Given the description of an element on the screen output the (x, y) to click on. 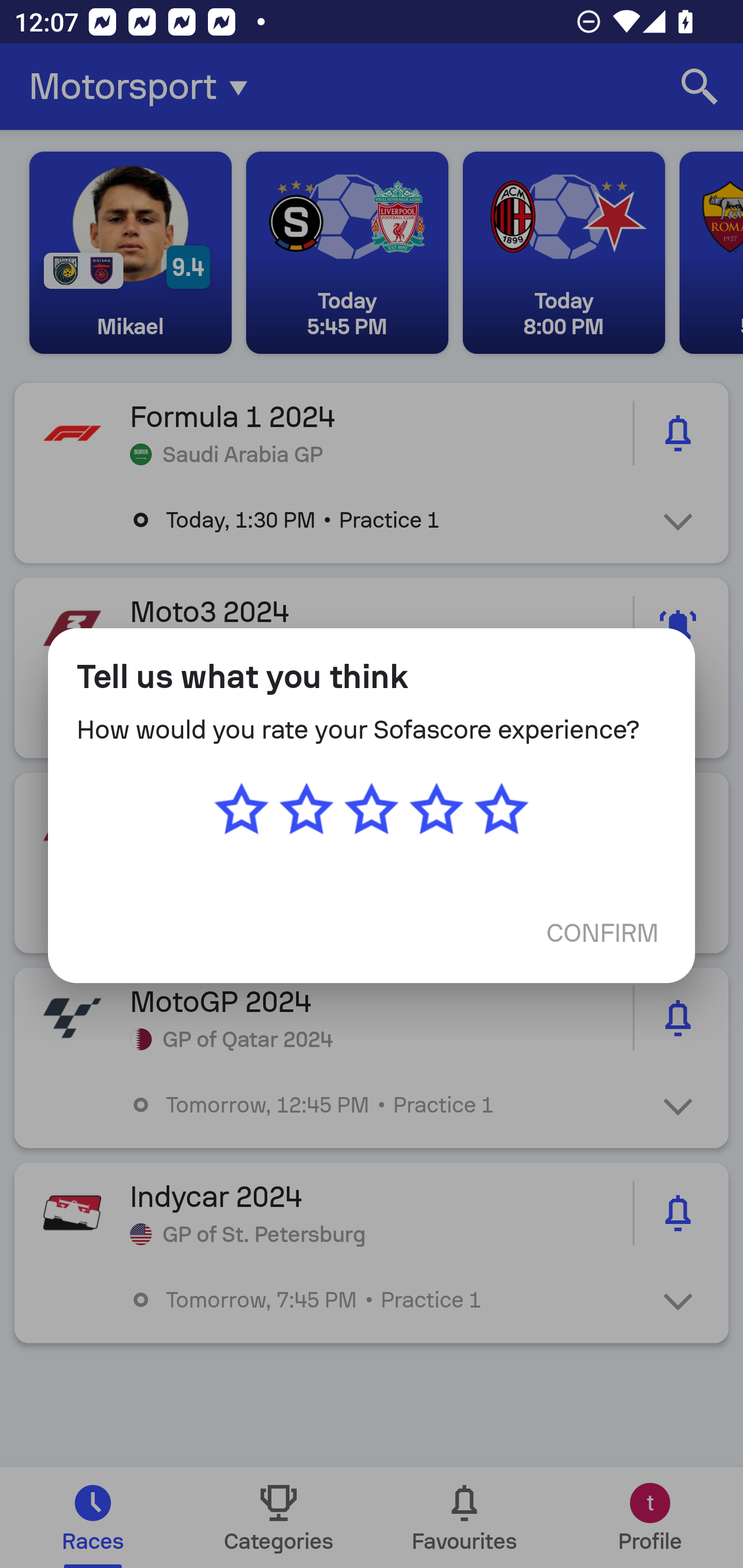
CONFIRM (602, 932)
